Given the description of an element on the screen output the (x, y) to click on. 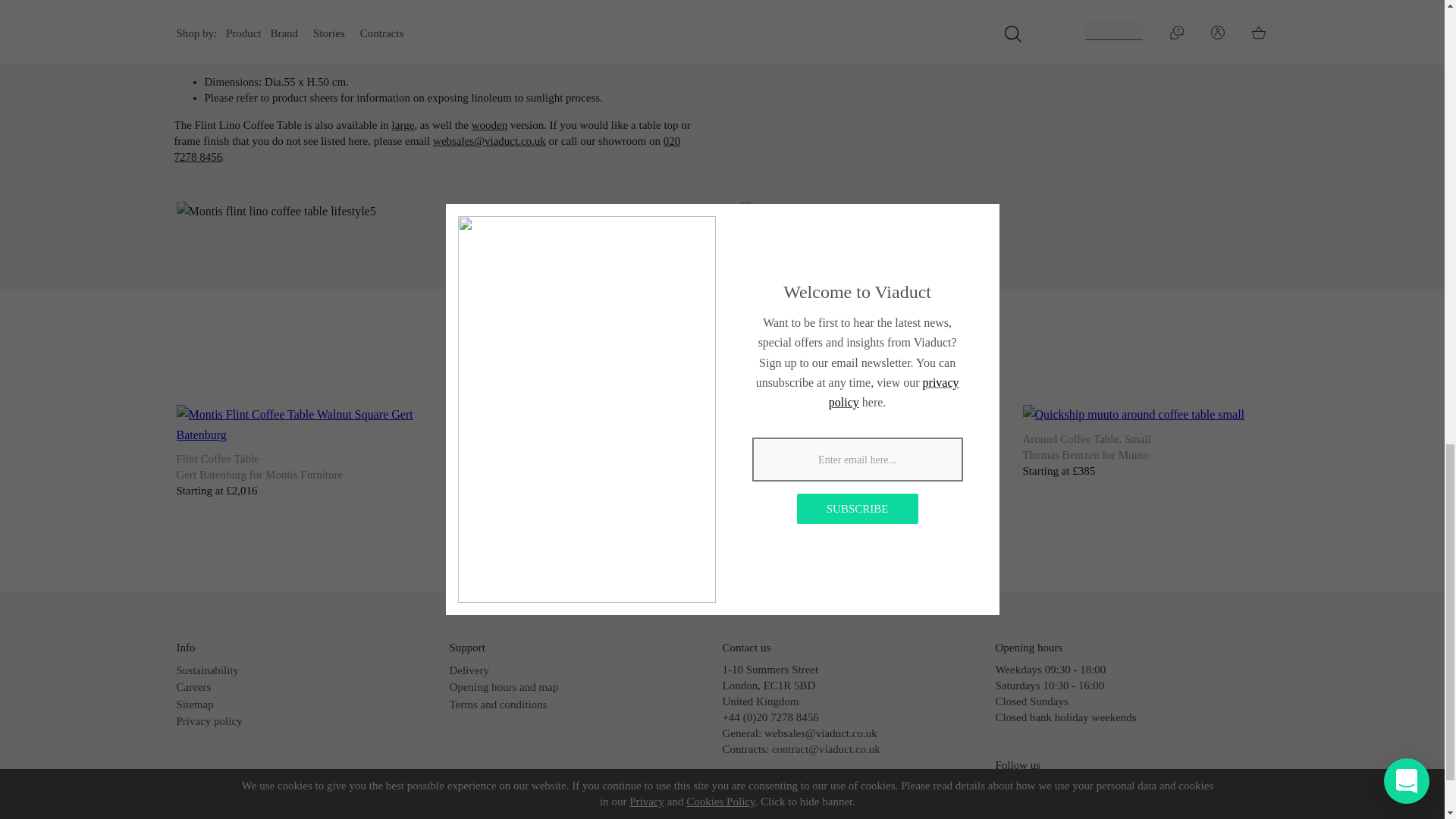
Quickship muuto cecile manz half size airy coffee table (862, 424)
Quickship muuto around coffee table small (1133, 414)
Quickship muuto cecile manz airy coffee table (576, 414)
Montis Flint Coffee Table Walnut Square Gert Batenburg (299, 424)
